Given the description of an element on the screen output the (x, y) to click on. 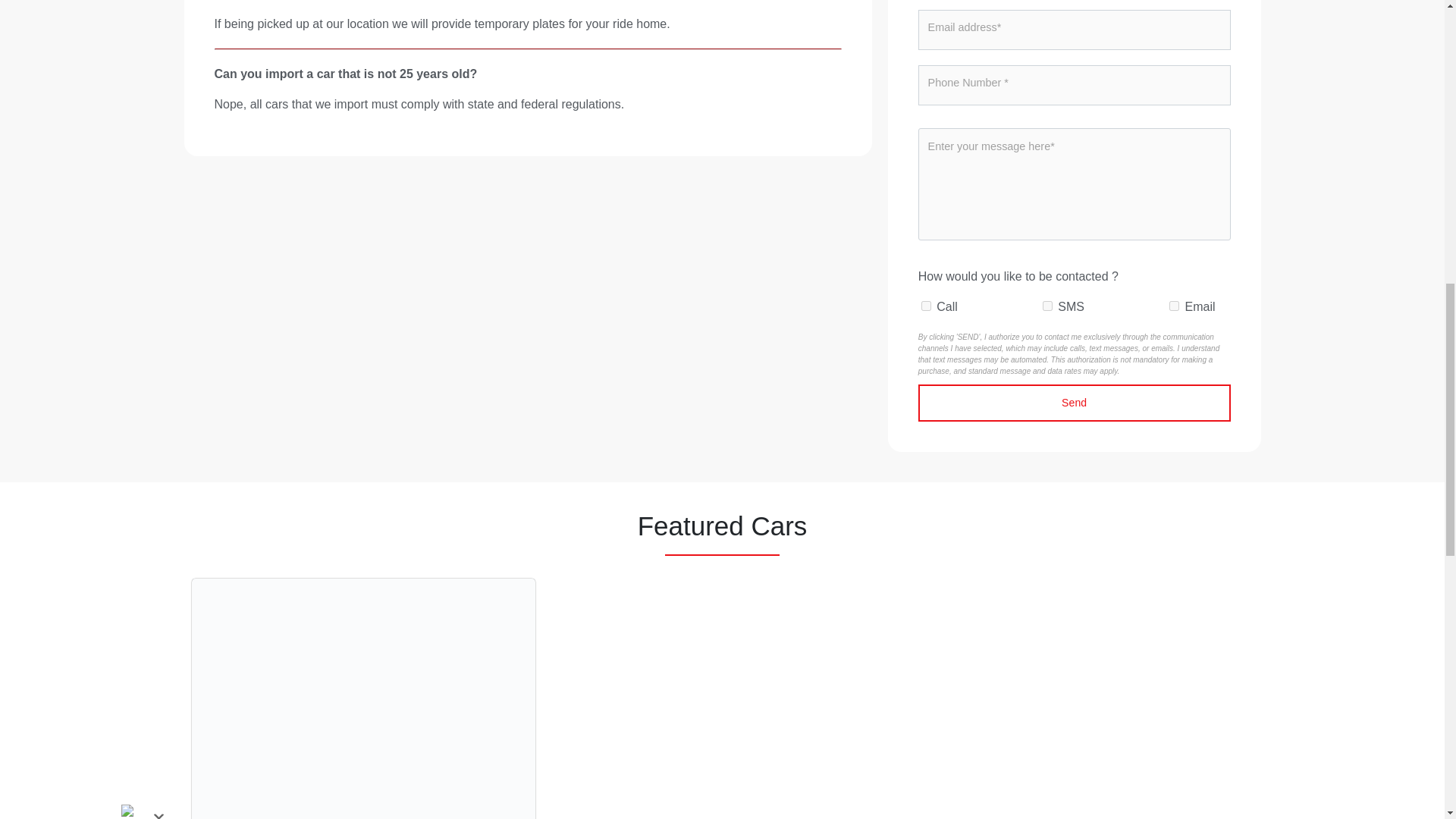
sms (1047, 306)
email (1174, 306)
call (926, 306)
